Given the description of an element on the screen output the (x, y) to click on. 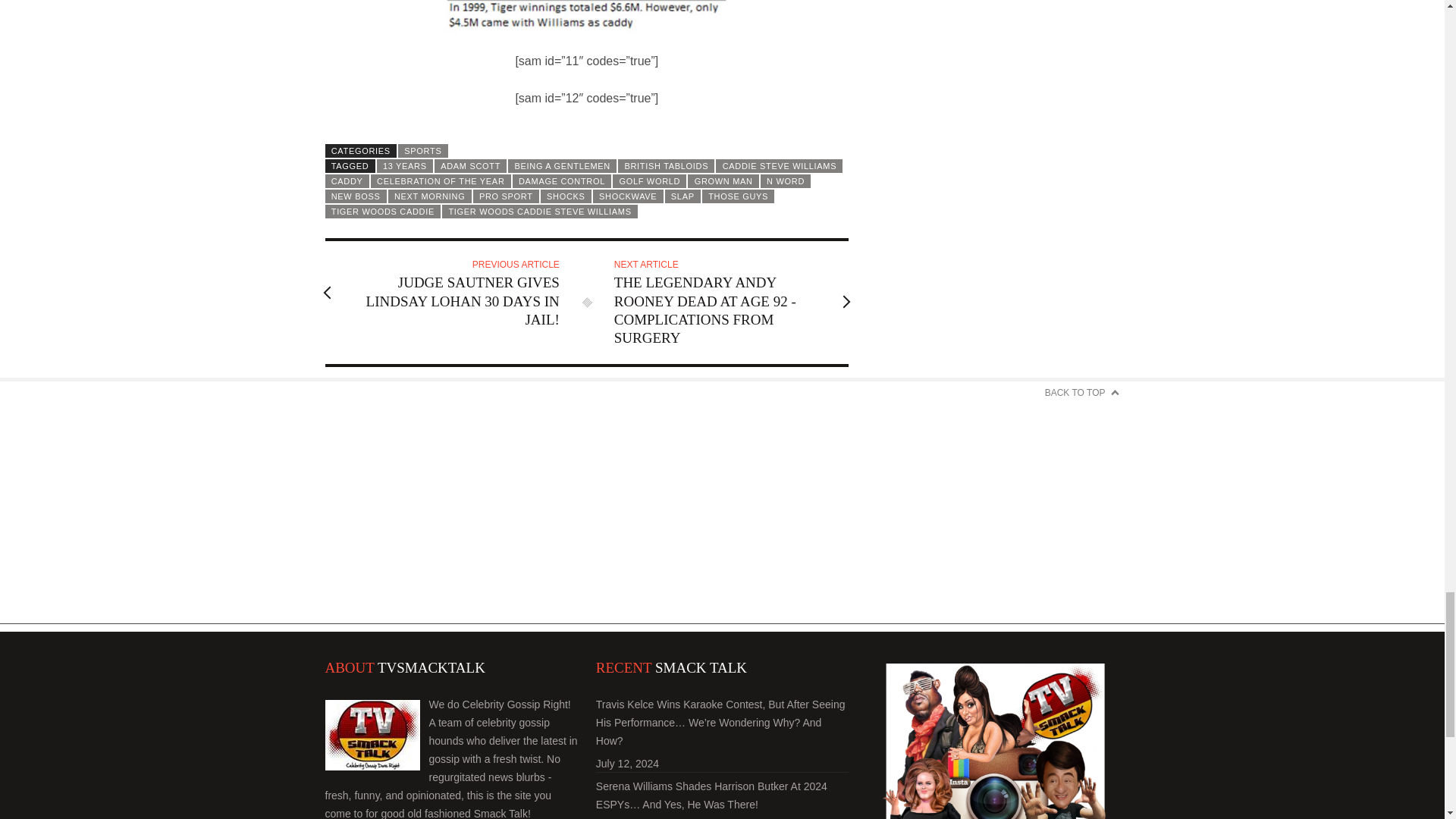
View all posts in SPORTS (422, 151)
View all posts tagged British Tabloids (665, 165)
View all posts tagged 13 Years (404, 165)
steve Williams earning (587, 17)
View all posts tagged Adam Scott (469, 165)
View all posts tagged Caddie Steve Williams (779, 165)
View all posts tagged Being A Gentlemen (561, 165)
